Given the description of an element on the screen output the (x, y) to click on. 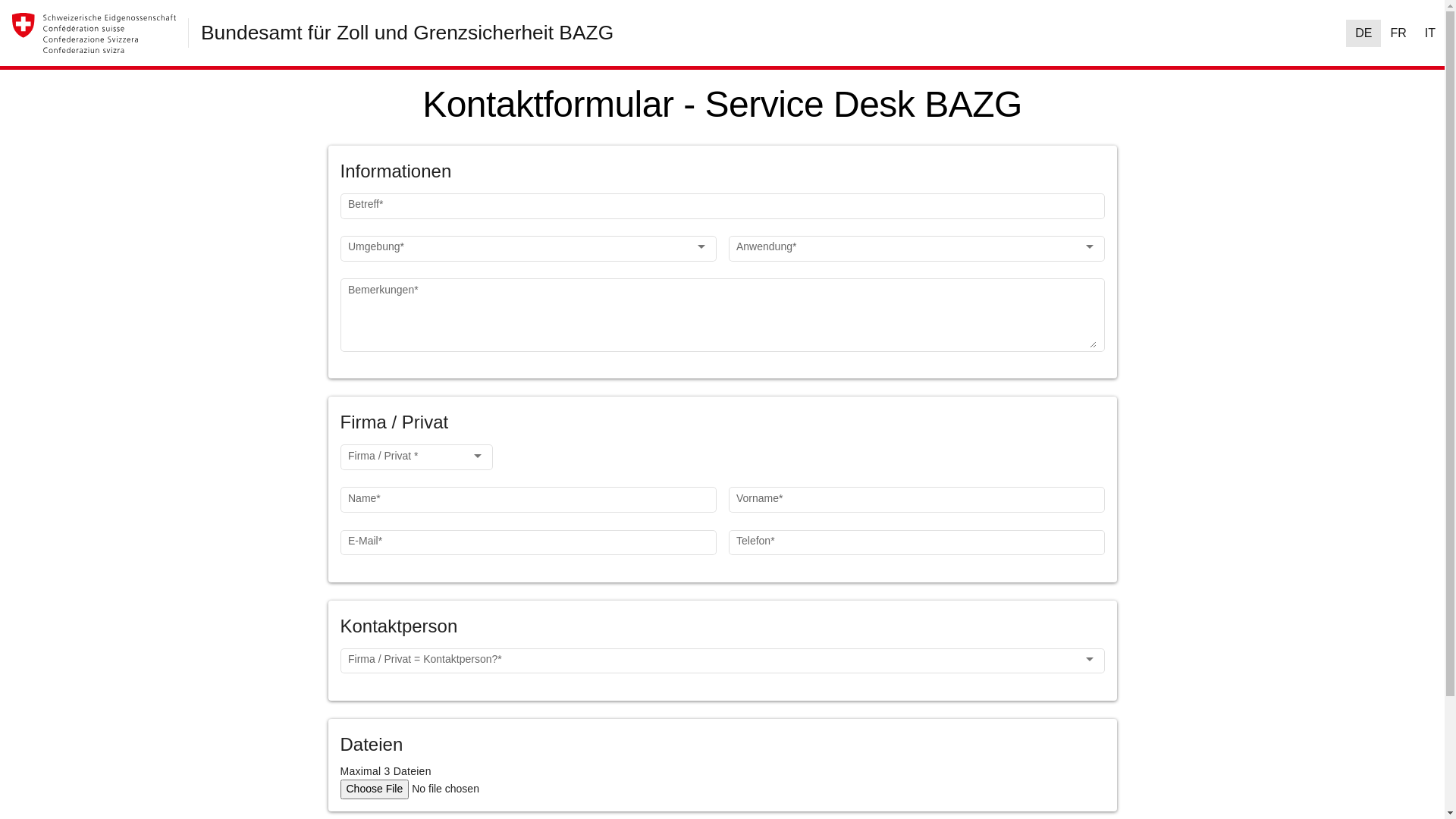
DE Element type: text (1363, 33)
FR Element type: text (1397, 33)
IT Element type: text (1429, 33)
